Given the description of an element on the screen output the (x, y) to click on. 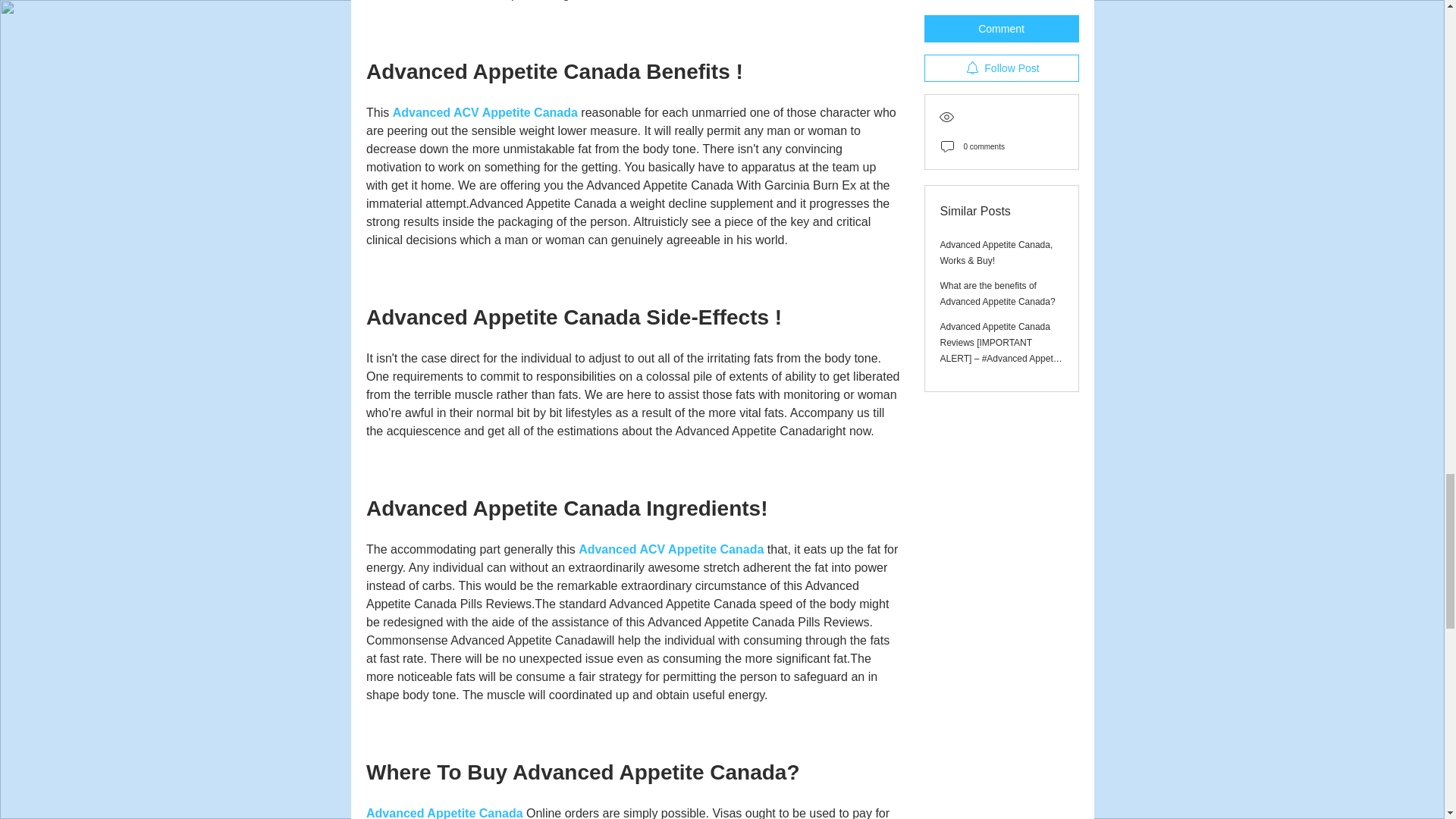
Advanced ACV Appetite Canada (483, 112)
Advanced Appetite Canada (443, 812)
Advanced ACV Appetite Canada (670, 549)
